Given the description of an element on the screen output the (x, y) to click on. 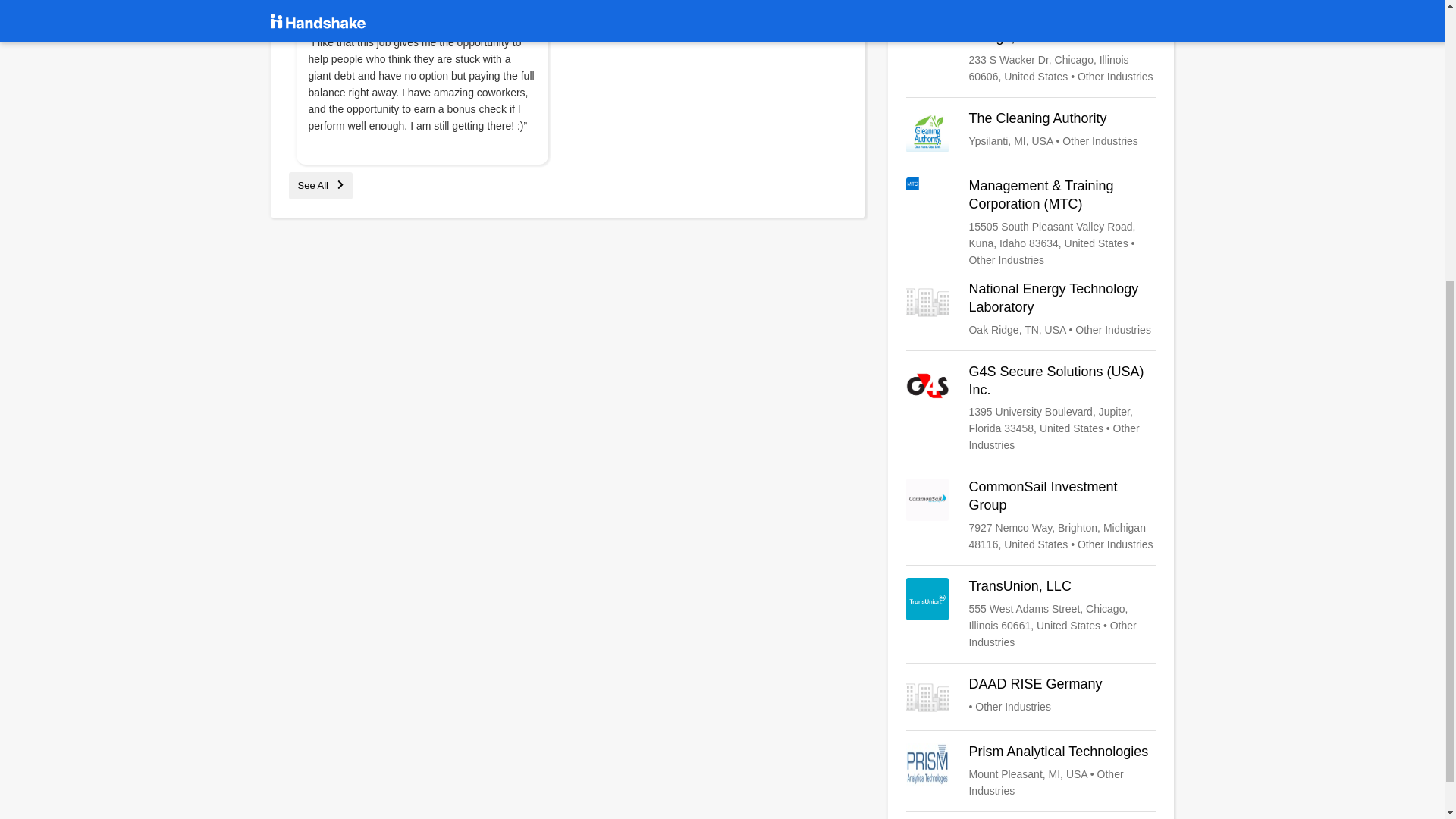
TransUnion, LLC (1030, 614)
CommonSail Investment Group (1030, 515)
See All (320, 184)
The Cleaning Authority (1030, 130)
DAAD RISE Germany (1030, 696)
Prism Analytical Technologies (1030, 770)
ESD-Environmental Systems Design, Inc. (1030, 47)
National Energy Technology Laboratory (1030, 309)
